Given the description of an element on the screen output the (x, y) to click on. 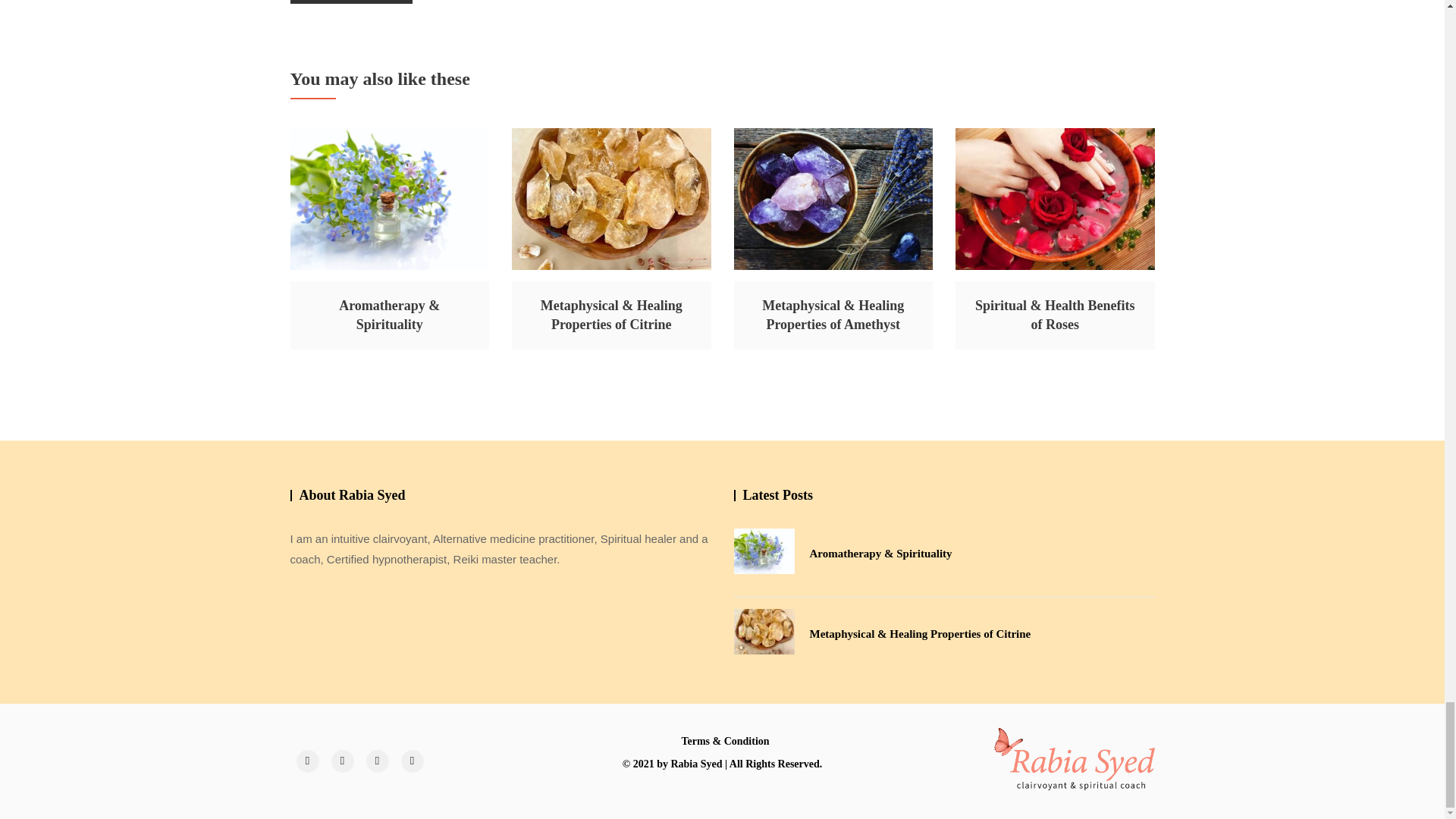
Post Comment (350, 1)
